Given the description of an element on the screen output the (x, y) to click on. 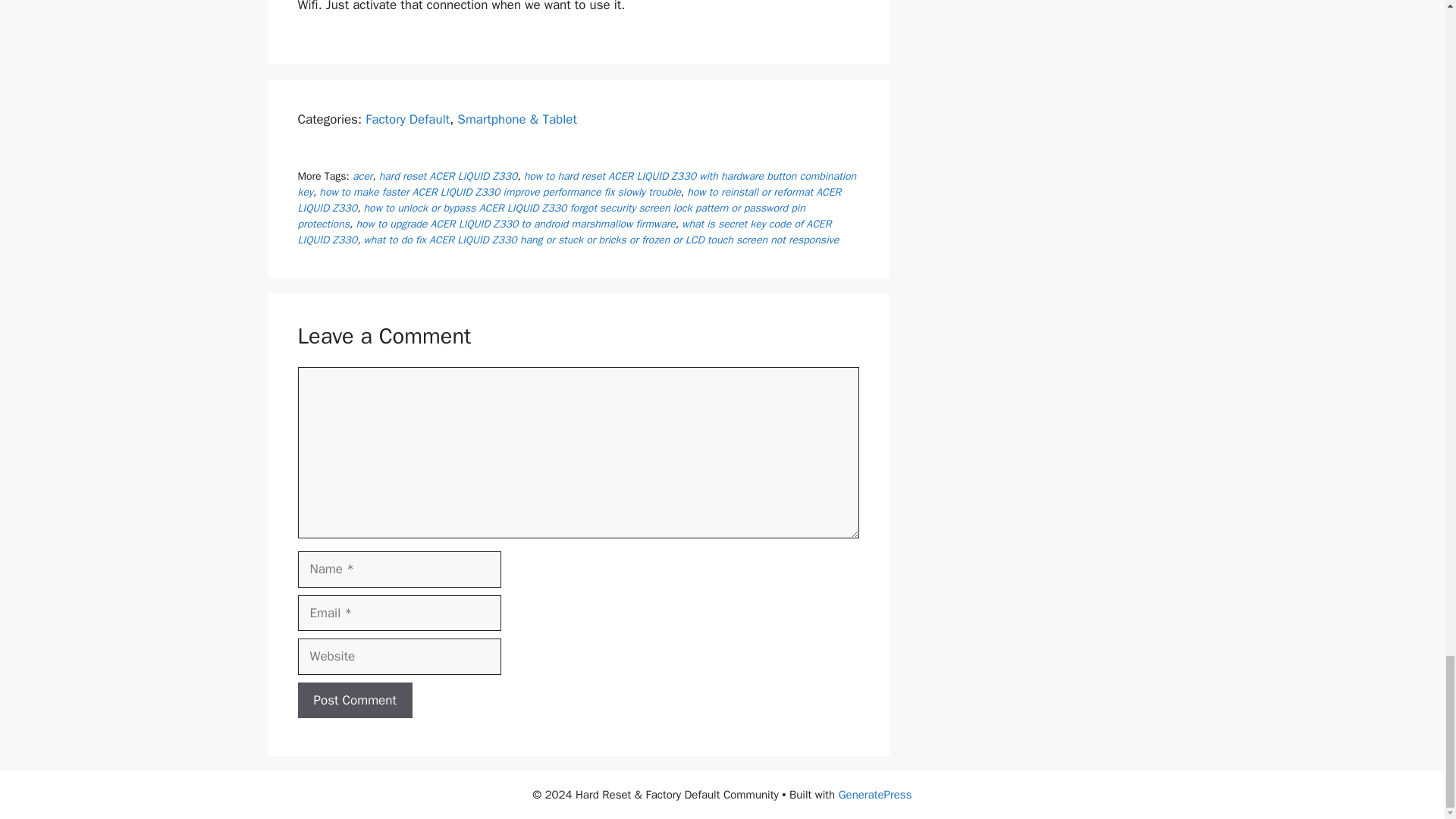
what is secret key code of ACER LIQUID Z330 (564, 231)
how to reinstall or reformat ACER LIQUID Z330 (569, 199)
Post Comment (354, 700)
acer (362, 175)
hard reset ACER LIQUID Z330 (448, 175)
Factory Default (407, 119)
Post Comment (354, 700)
